Given the description of an element on the screen output the (x, y) to click on. 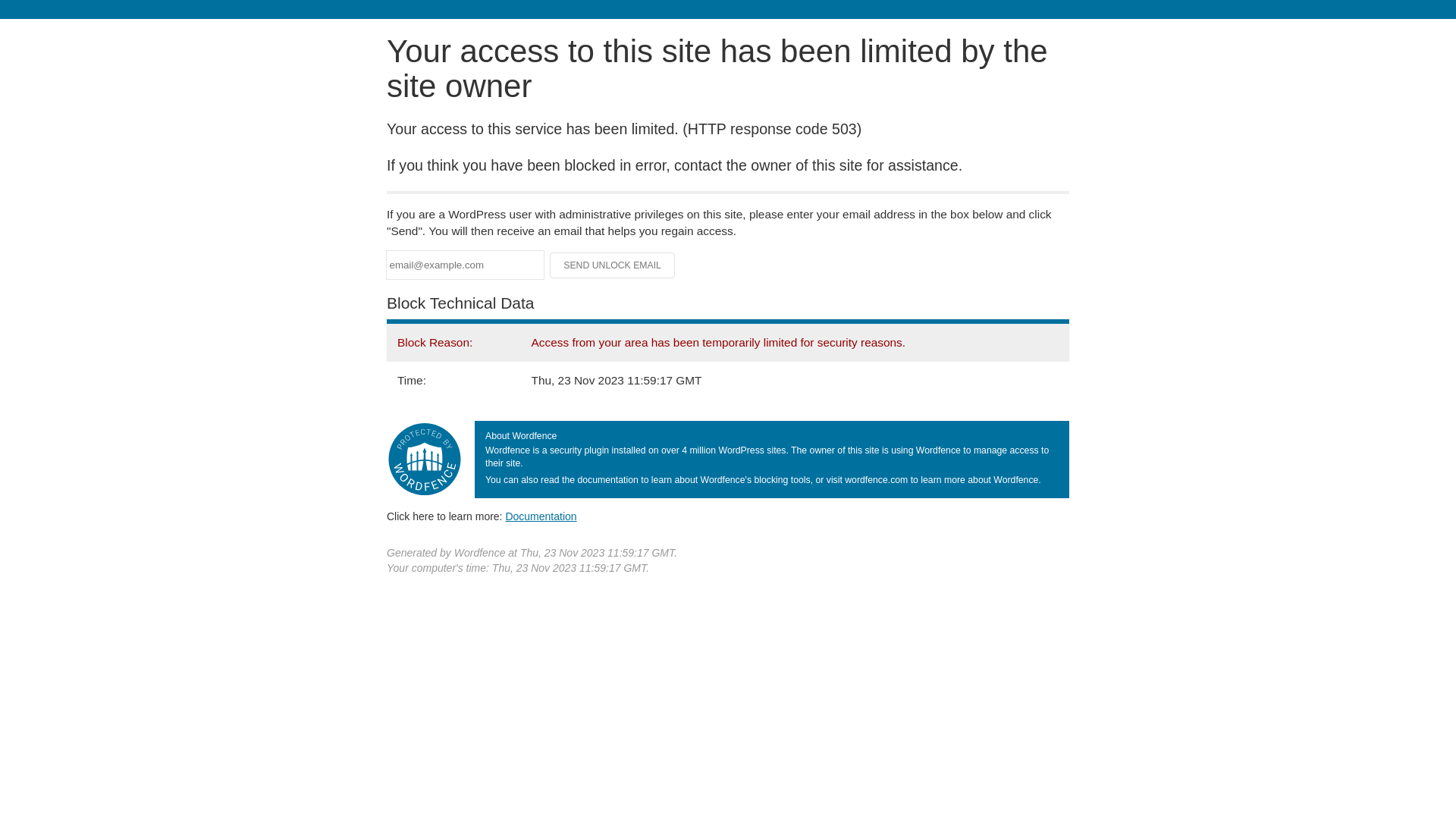
Documentation Element type: text (540, 516)
Send Unlock Email Element type: text (612, 265)
